Given the description of an element on the screen output the (x, y) to click on. 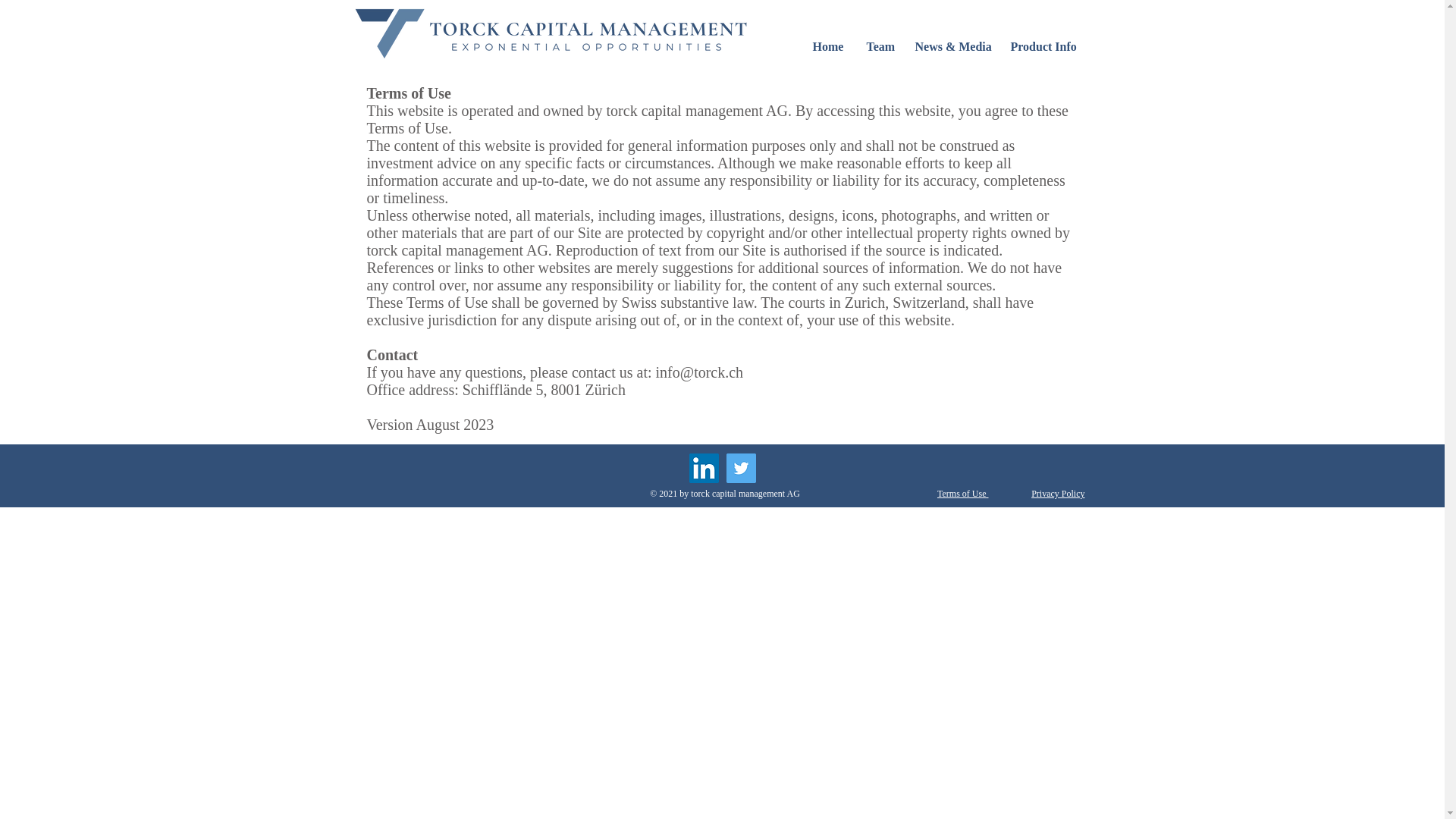
Terms of Use  (962, 493)
Product Info (1041, 46)
Privacy Policy (1057, 493)
Team (880, 46)
Home (827, 46)
